Given the description of an element on the screen output the (x, y) to click on. 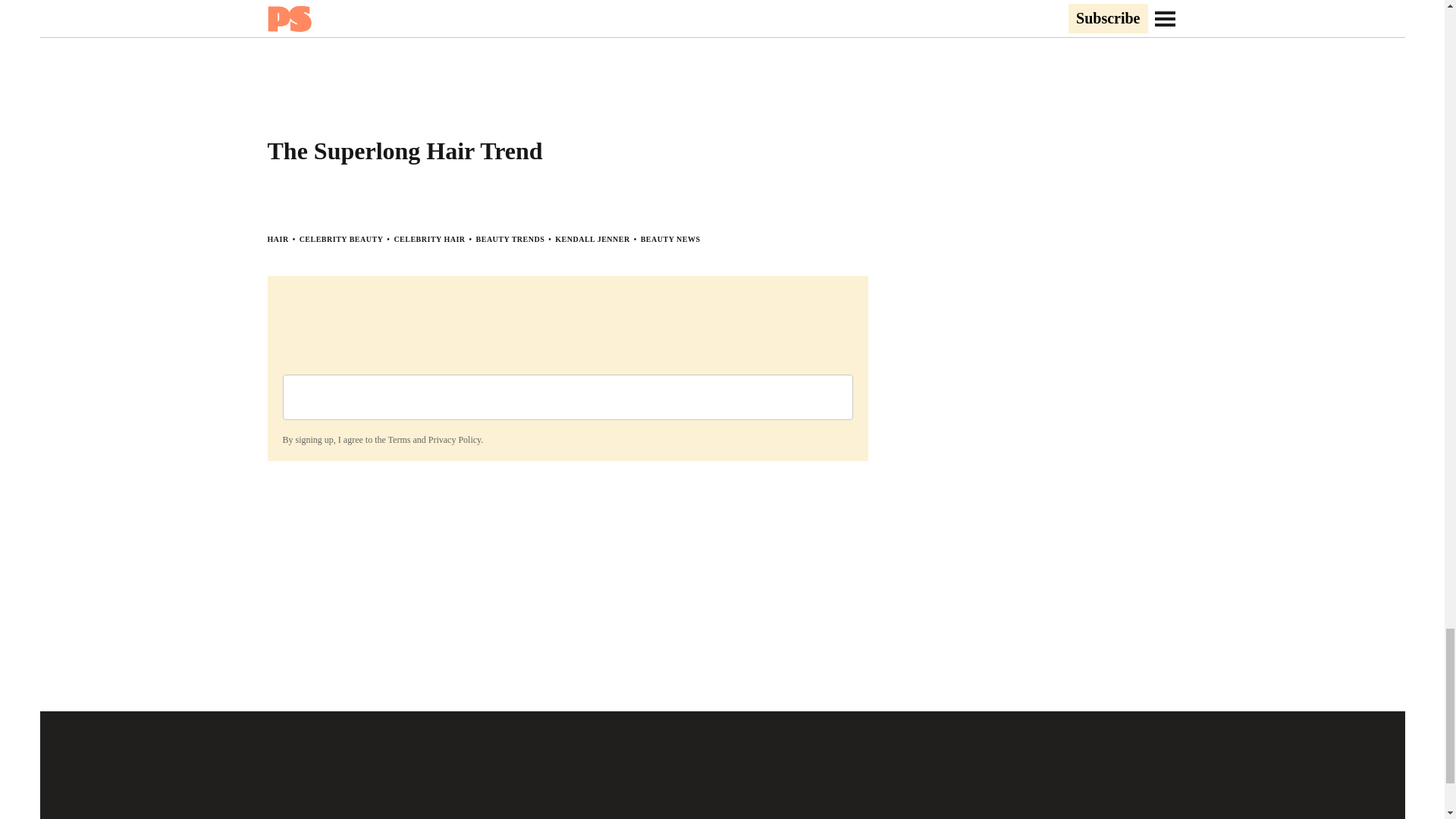
MEET THE PS STAFF (504, 818)
ABOUT US (408, 818)
BEAUTY TRENDS (510, 239)
MEET THE PS COUNCIL (634, 818)
CELEBRITY BEAUTY (341, 239)
CELEBRITY HAIR (428, 239)
BEAUTY NEWS (670, 239)
Terms (399, 439)
Privacy Policy. (455, 439)
KENDALL JENNER (591, 239)
HAIR (277, 239)
